Given the description of an element on the screen output the (x, y) to click on. 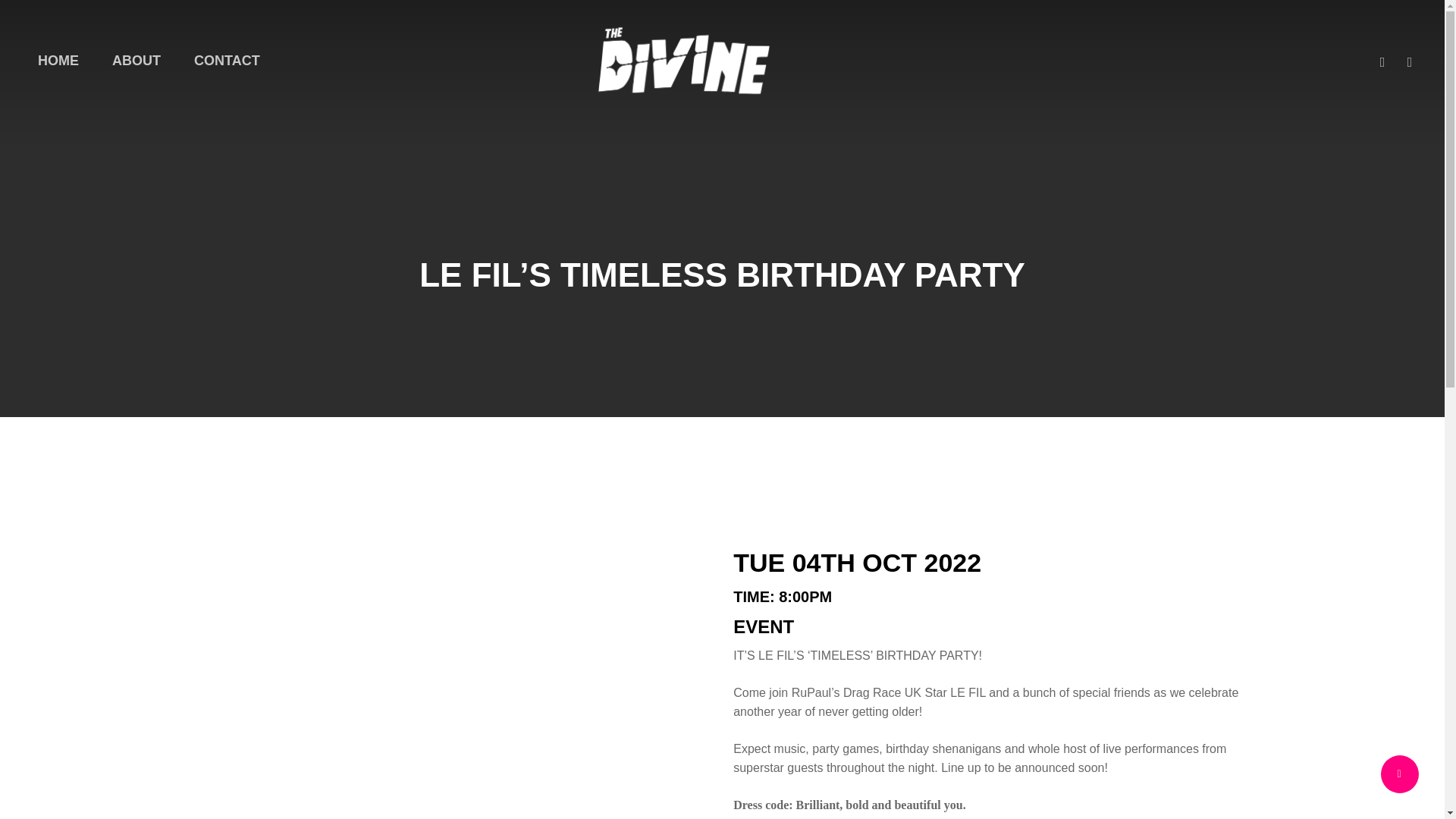
CONTACT (226, 60)
ABOUT (136, 60)
FACEBOOK (1382, 59)
HOME (58, 60)
INSTAGRAM (1409, 59)
Menu (1415, 7)
